Given the description of an element on the screen output the (x, y) to click on. 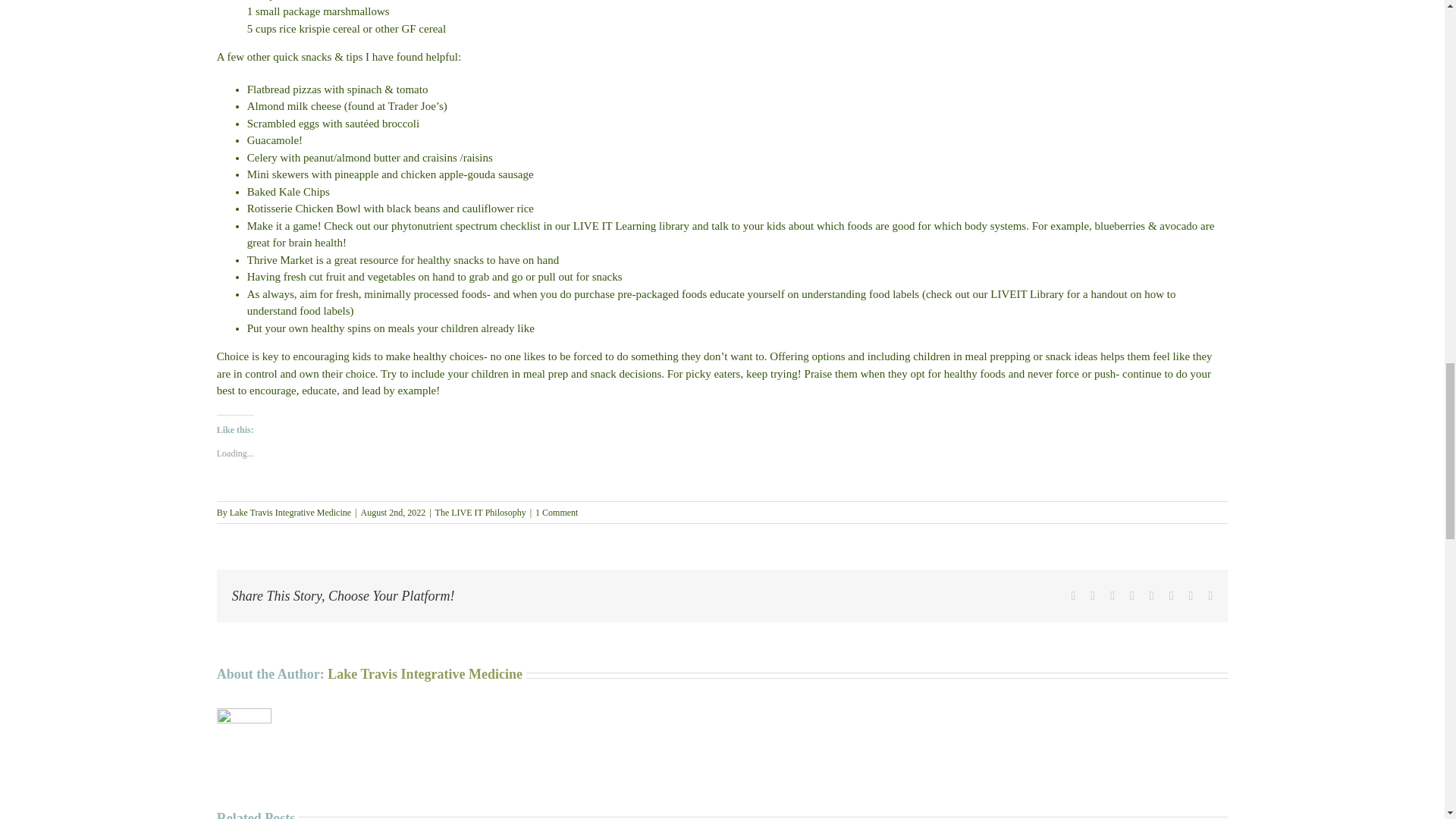
Posts by Lake Travis Integrative Medicine (424, 673)
Posts by Lake Travis Integrative Medicine (290, 511)
The LIVE IT Philosophy (480, 511)
1 Comment (556, 511)
Lake Travis Integrative Medicine (290, 511)
Lake Travis Integrative Medicine (424, 673)
